Given the description of an element on the screen output the (x, y) to click on. 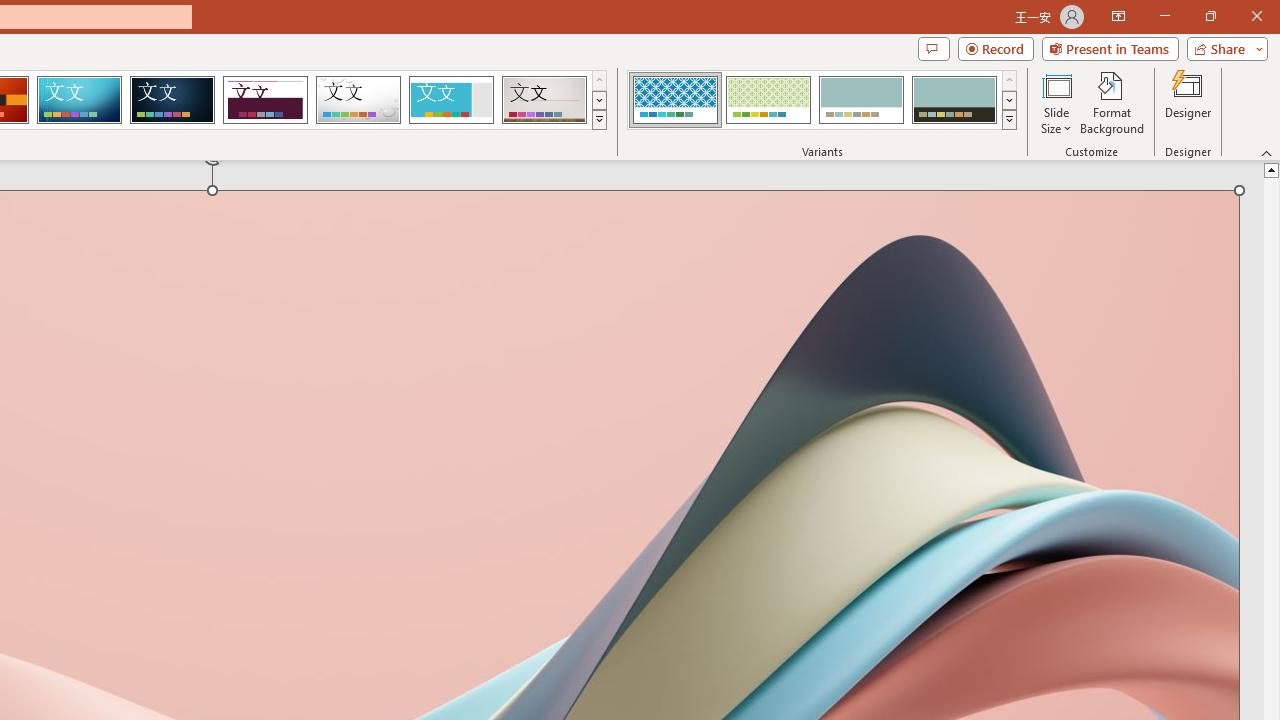
Integral Variant 1 (674, 100)
Dividend (265, 100)
Variants (1009, 120)
Frame (450, 100)
AutomationID: ThemeVariantsGallery (822, 99)
